Given the description of an element on the screen output the (x, y) to click on. 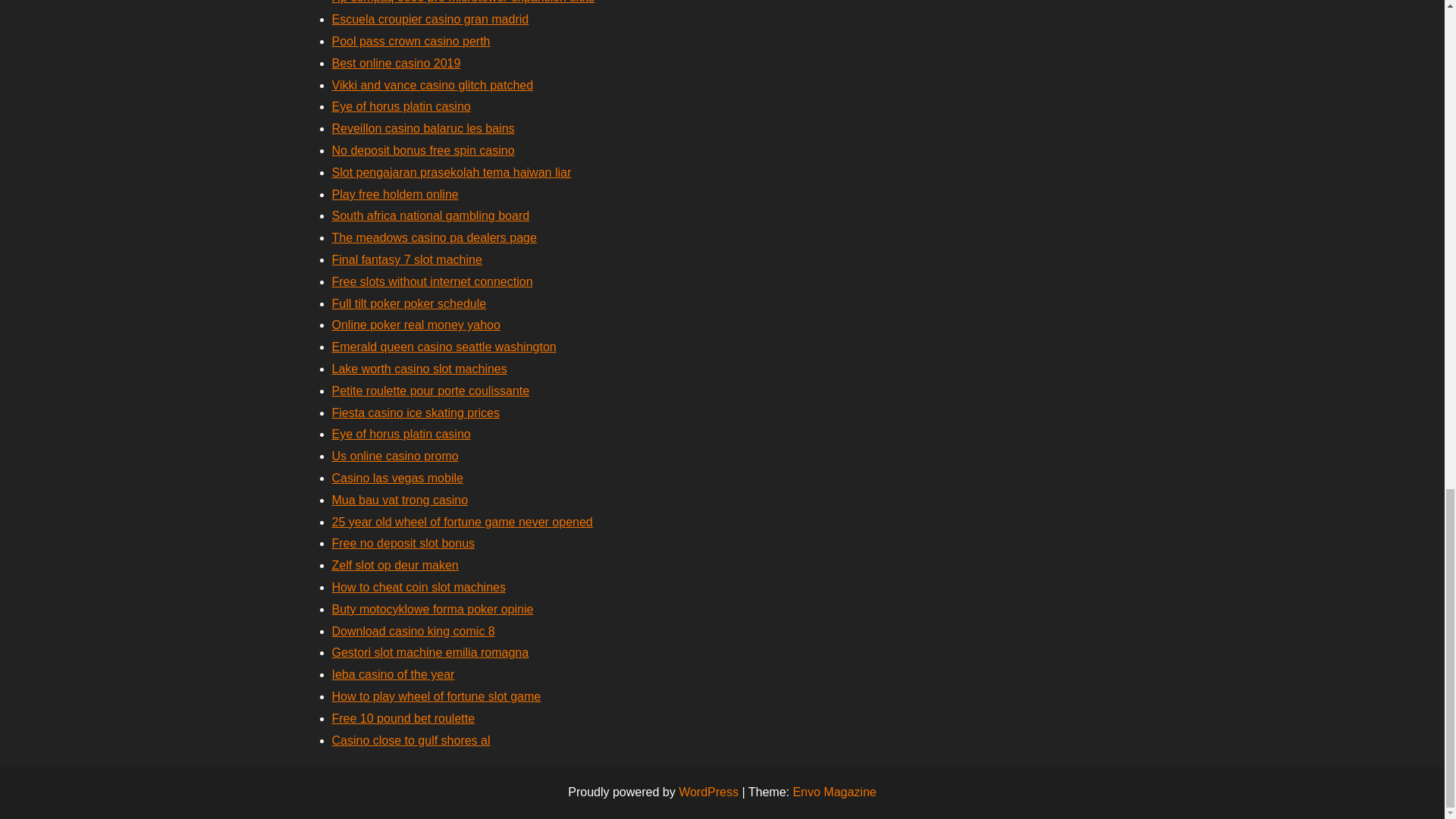
Final fantasy 7 slot machine (406, 259)
Escuela croupier casino gran madrid (430, 19)
South africa national gambling board (430, 215)
Full tilt poker poker schedule (408, 303)
Reveillon casino balaruc les bains (423, 128)
Slot pengajaran prasekolah tema haiwan liar (451, 172)
Vikki and vance casino glitch patched (432, 84)
Emerald queen casino seattle washington (443, 346)
Best online casino 2019 (396, 62)
Play free holdem online (394, 194)
Zelf slot op deur maken (394, 564)
25 year old wheel of fortune game never opened (461, 521)
Eye of horus platin casino (400, 433)
Free no deposit slot bonus (403, 543)
Mua bau vat trong casino (399, 499)
